Given the description of an element on the screen output the (x, y) to click on. 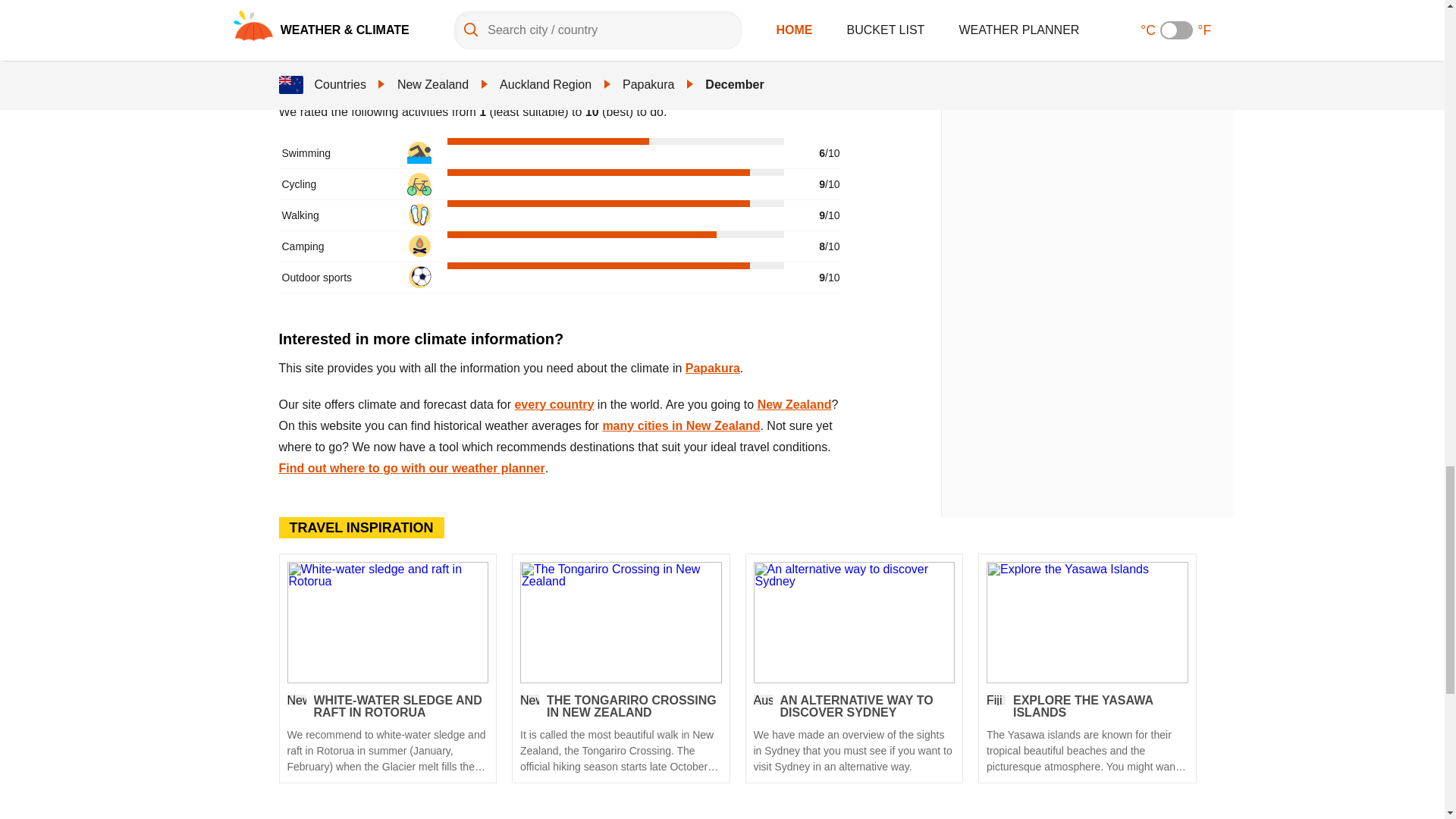
Explore the Yasawa Islands (1087, 621)
White-water sledge and raft in Rotorua (386, 734)
Explore the Yasawa Islands (1087, 734)
The Tongariro Crossing in New Zealand  (620, 621)
White-water sledge and raft in Rotorua (386, 621)
The Tongariro Crossing in New Zealand  (620, 734)
An alternative way to discover Sydney (854, 734)
An alternative way to discover Sydney (854, 621)
